Given the description of an element on the screen output the (x, y) to click on. 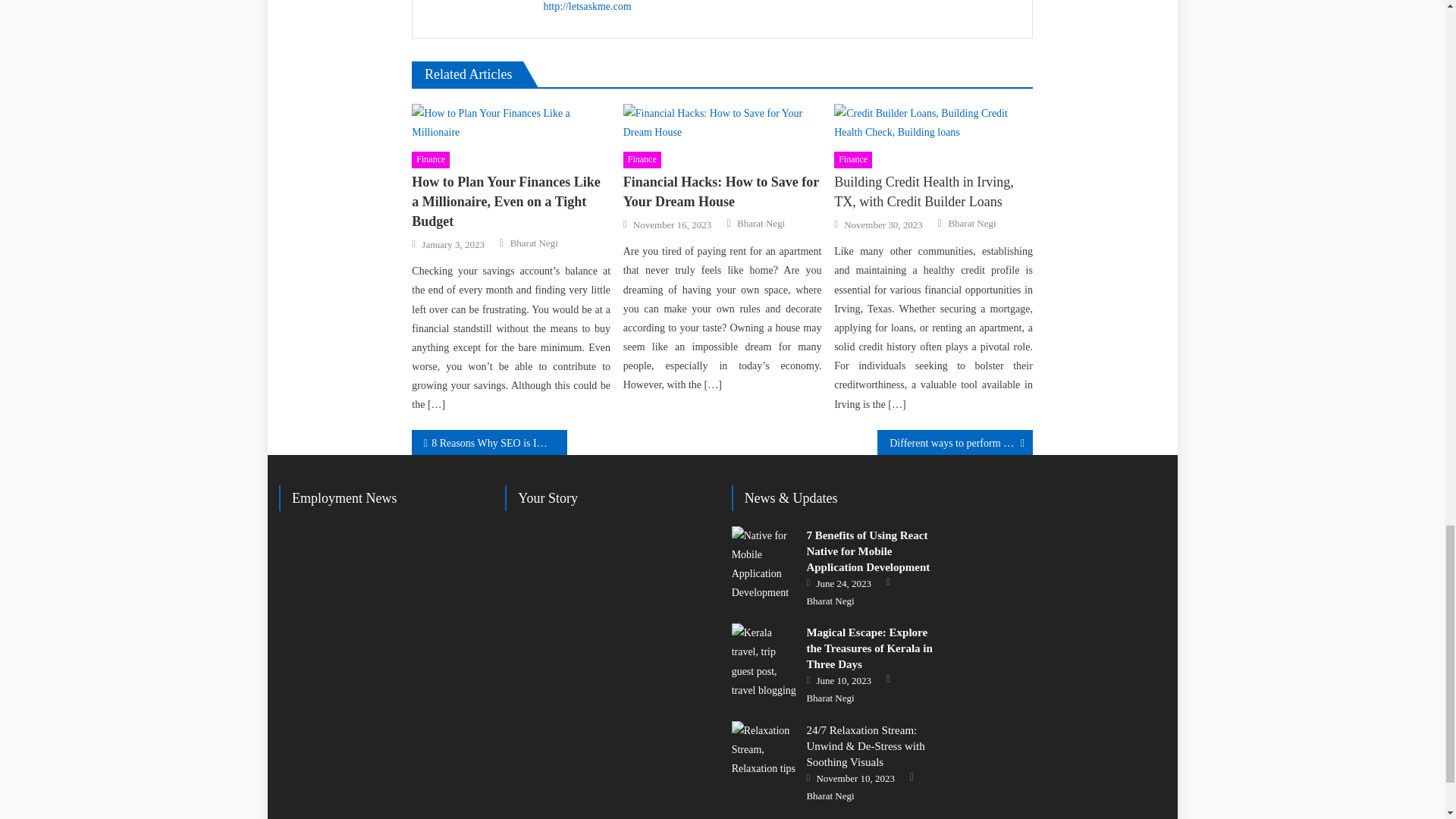
Financial Hacks: How to Save for Your Dream House (722, 122)
November 16, 2023 (672, 224)
Bharat Negi (534, 243)
Bharat Negi (760, 223)
Finance (430, 159)
January 3, 2023 (453, 244)
Finance (642, 159)
Financial Hacks: How to Save for Your Dream House (722, 191)
Finance (853, 159)
